Given the description of an element on the screen output the (x, y) to click on. 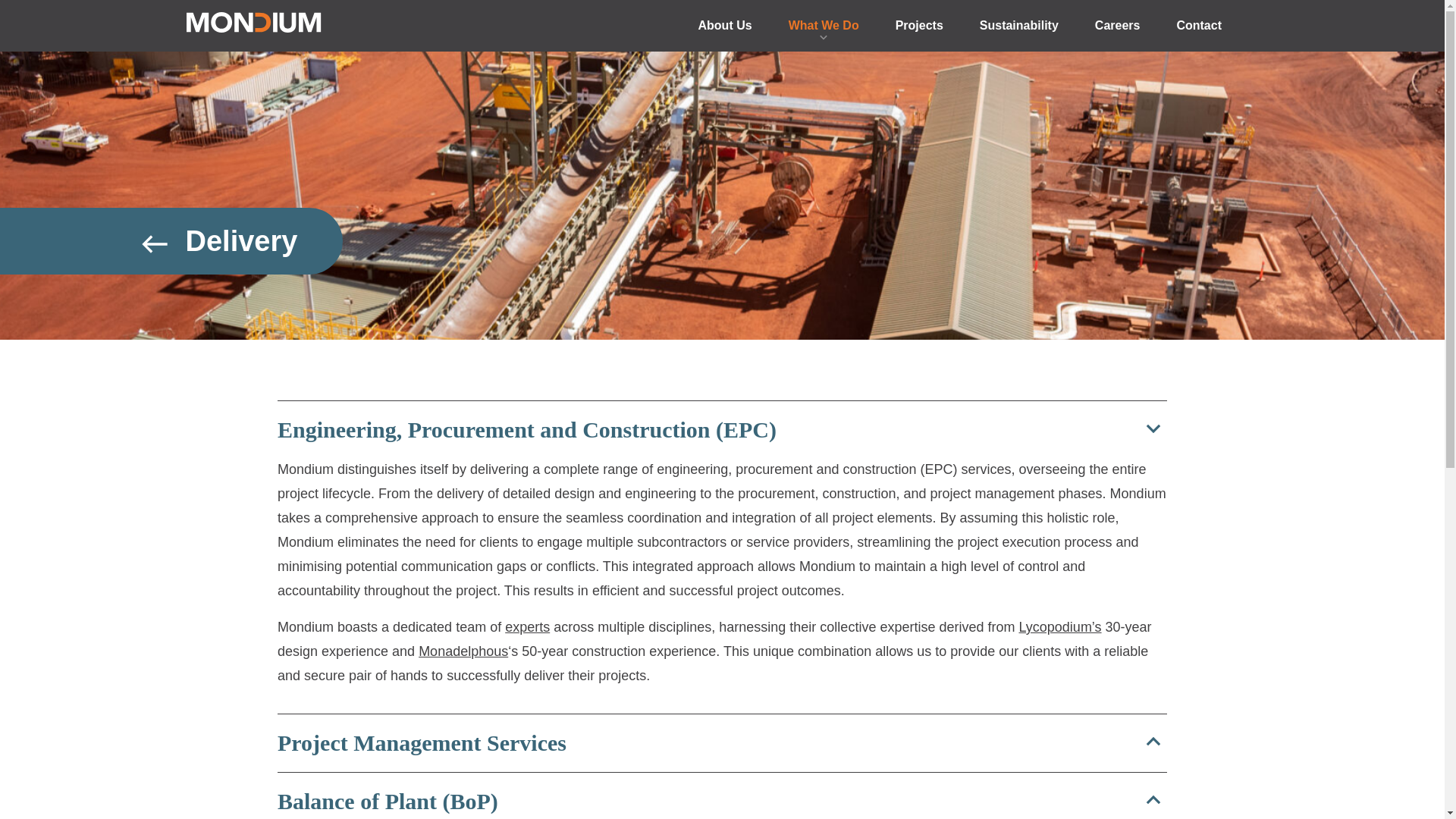
Projects (919, 24)
experts (527, 626)
Careers (1117, 24)
Contact (1198, 24)
What We Do (823, 24)
About Us (724, 24)
Monadelphous (463, 651)
Sustainability (1018, 24)
